Given the description of an element on the screen output the (x, y) to click on. 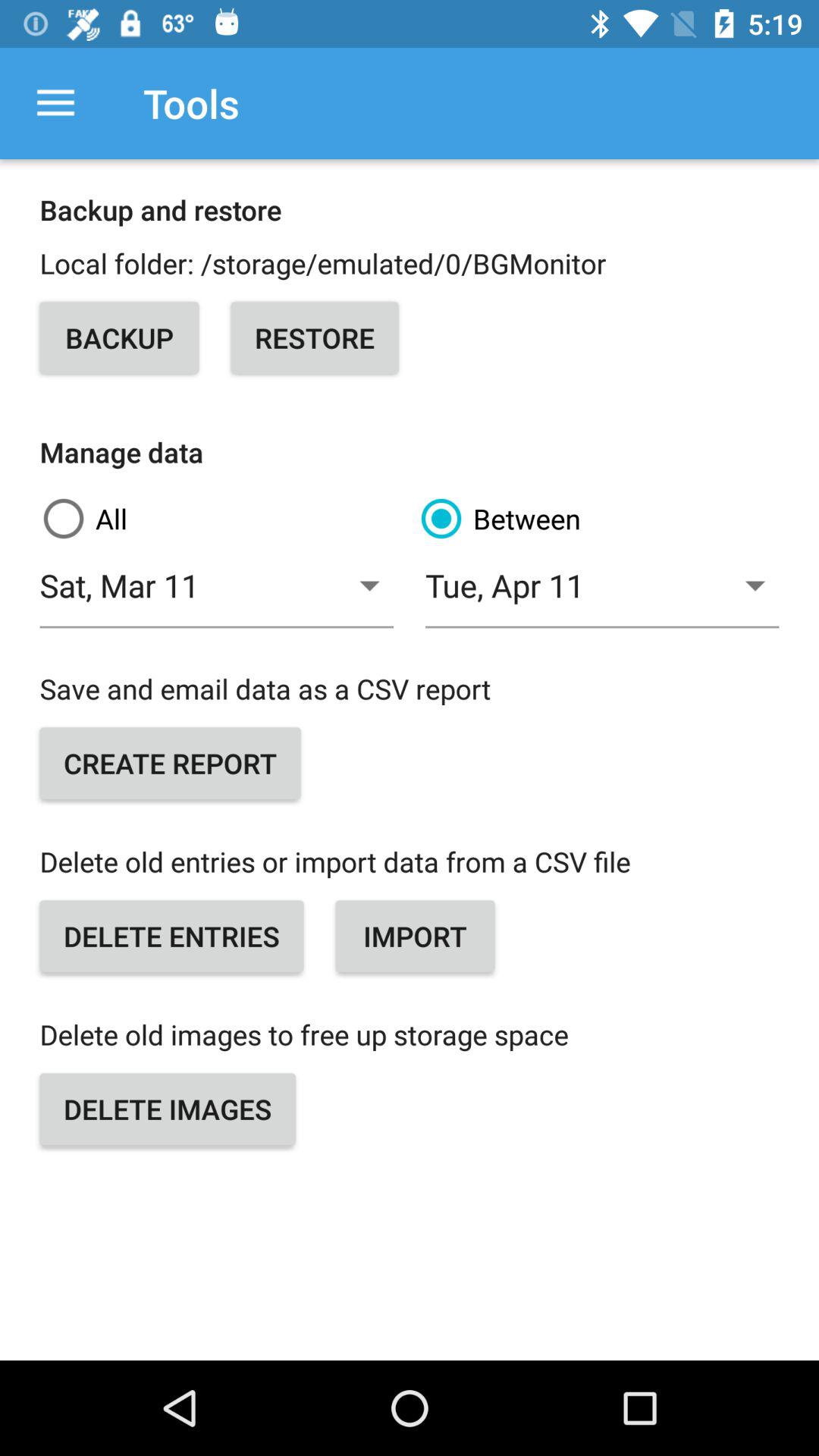
launch the icon above the sat, mar 11 (220, 518)
